Given the description of an element on the screen output the (x, y) to click on. 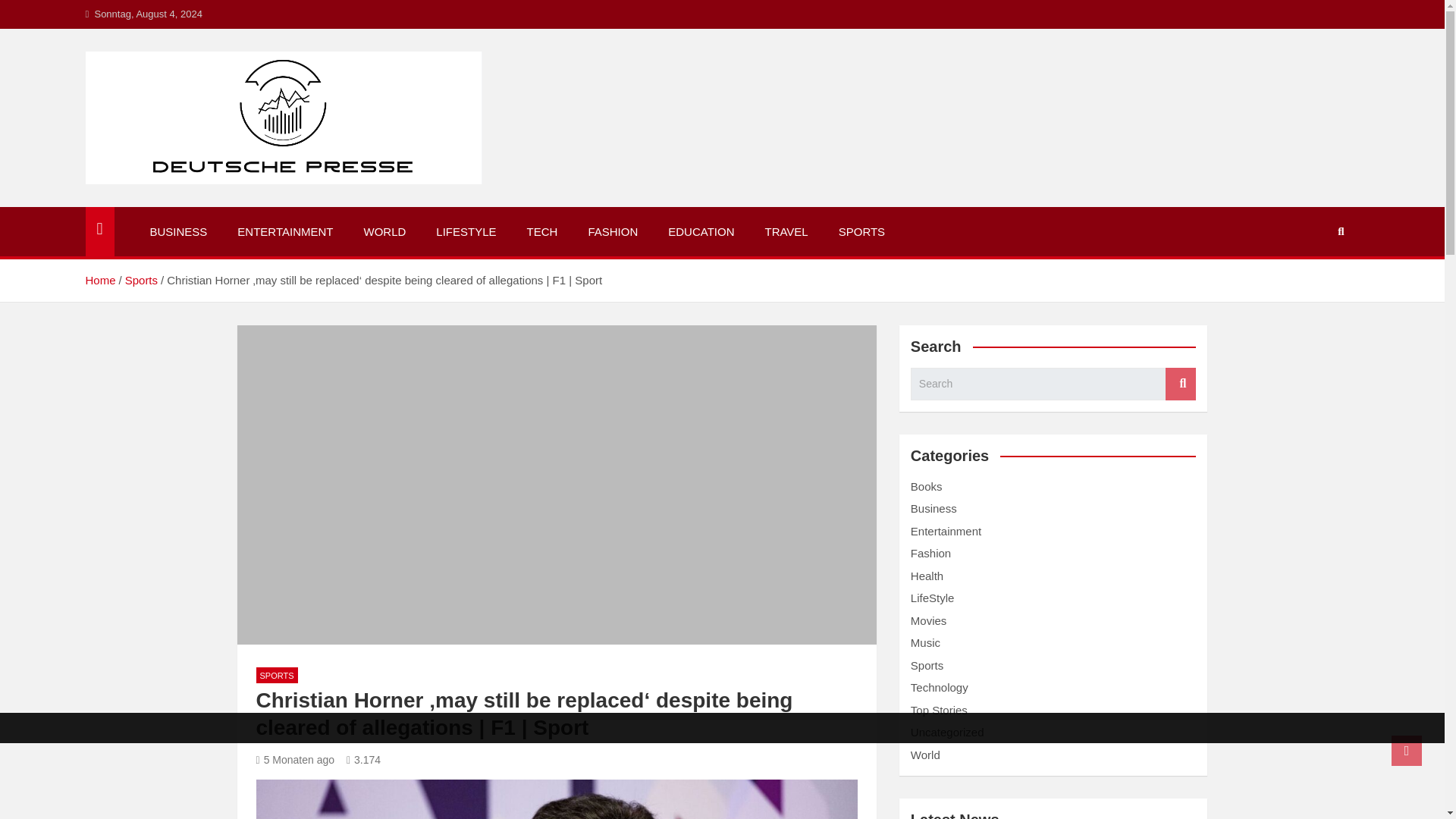
BUSINESS (178, 232)
FASHION (612, 232)
DeutschePRESSE (213, 203)
5 Monaten ago (295, 759)
SPORTS (861, 232)
Music (925, 642)
LifeStyle (933, 597)
LIFESTYLE (465, 232)
WORLD (383, 232)
EDUCATION (700, 232)
Books (926, 486)
Sports (141, 279)
Home (99, 279)
Search (1180, 383)
Sports (927, 665)
